Given the description of an element on the screen output the (x, y) to click on. 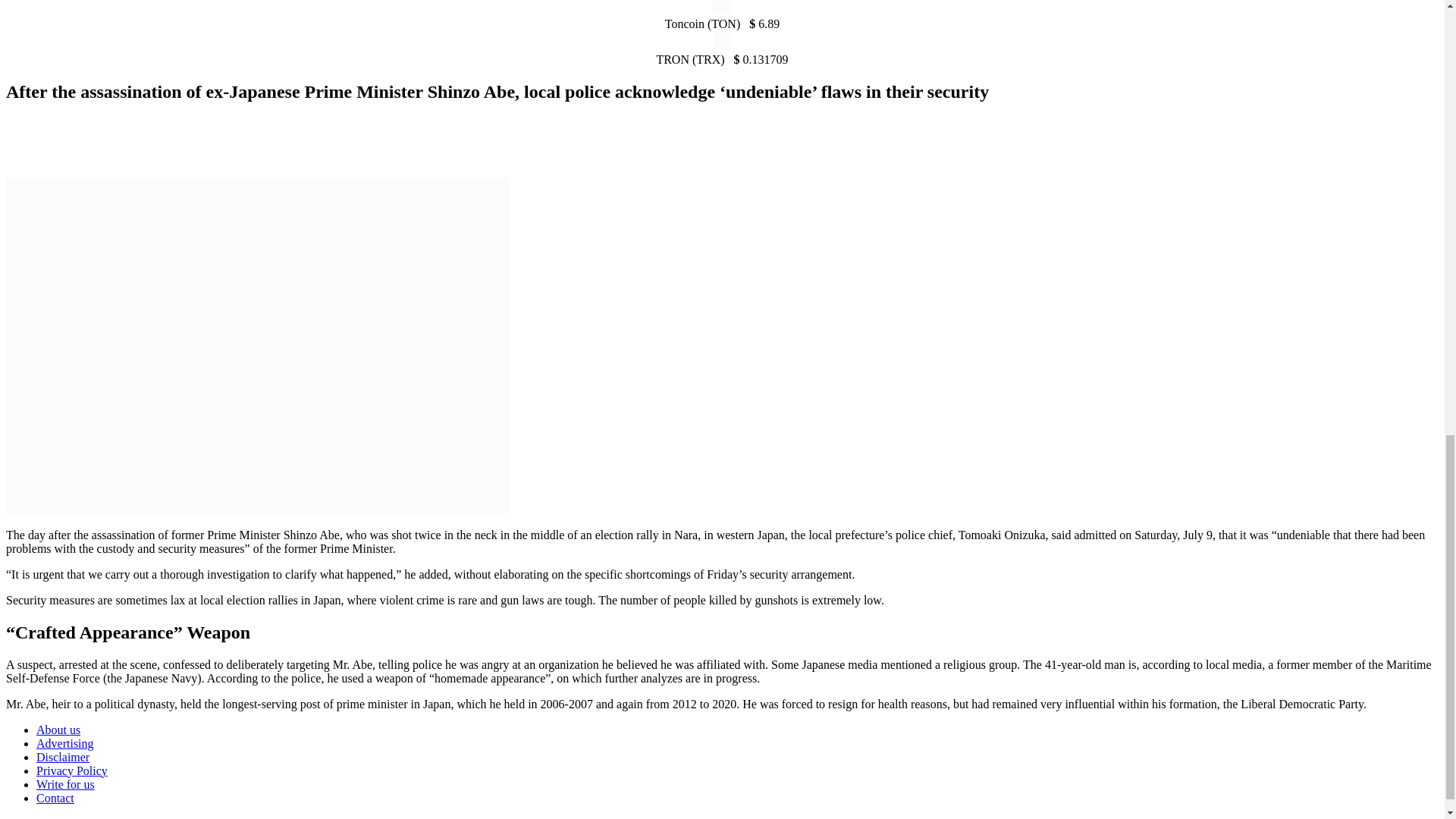
Disclaimer (62, 757)
Privacy Policy (71, 770)
Advertising (65, 743)
About us (58, 729)
Write for us (65, 784)
